Given the description of an element on the screen output the (x, y) to click on. 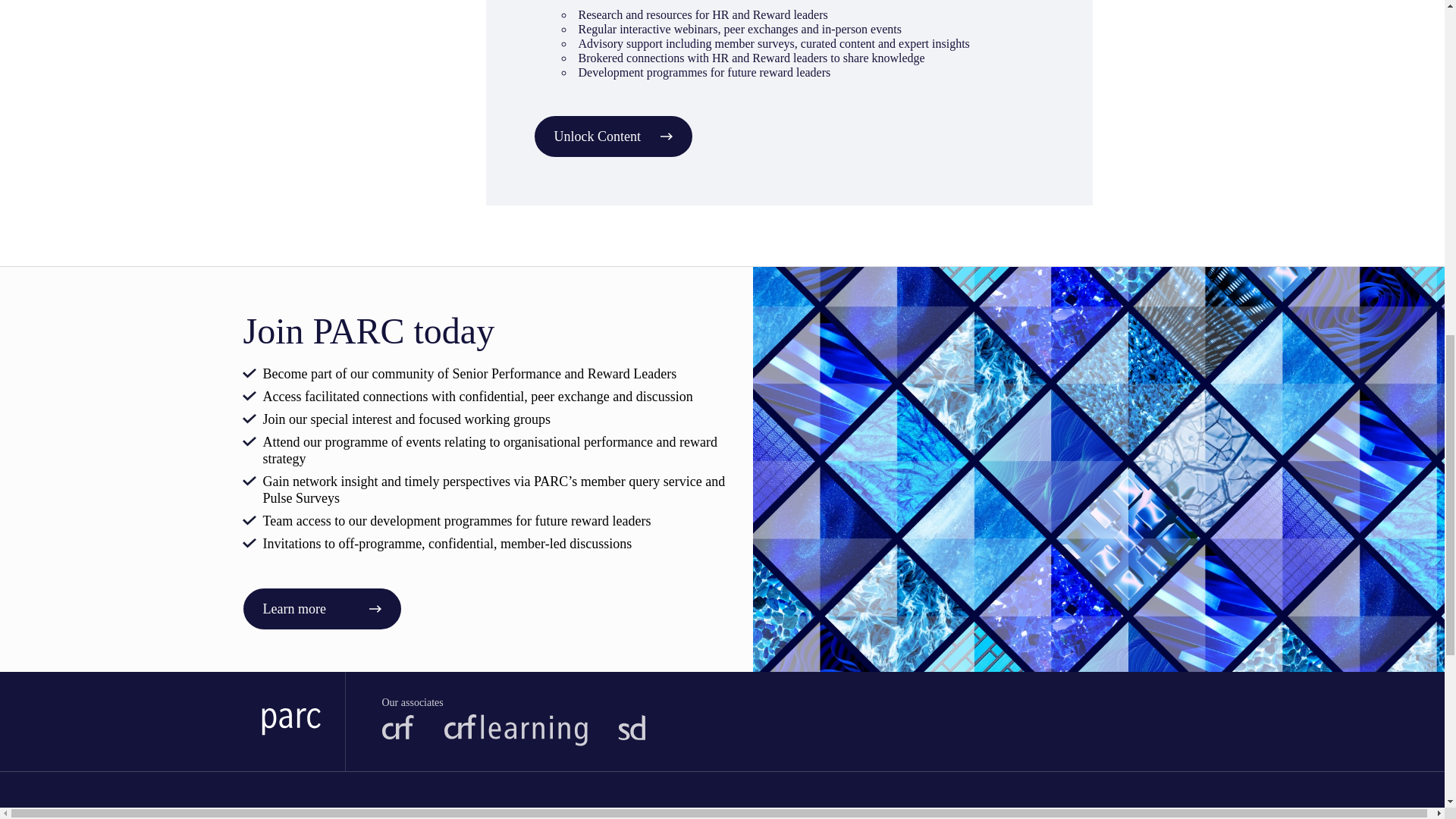
Unlock Content (612, 136)
Learn more (321, 608)
